Given the description of an element on the screen output the (x, y) to click on. 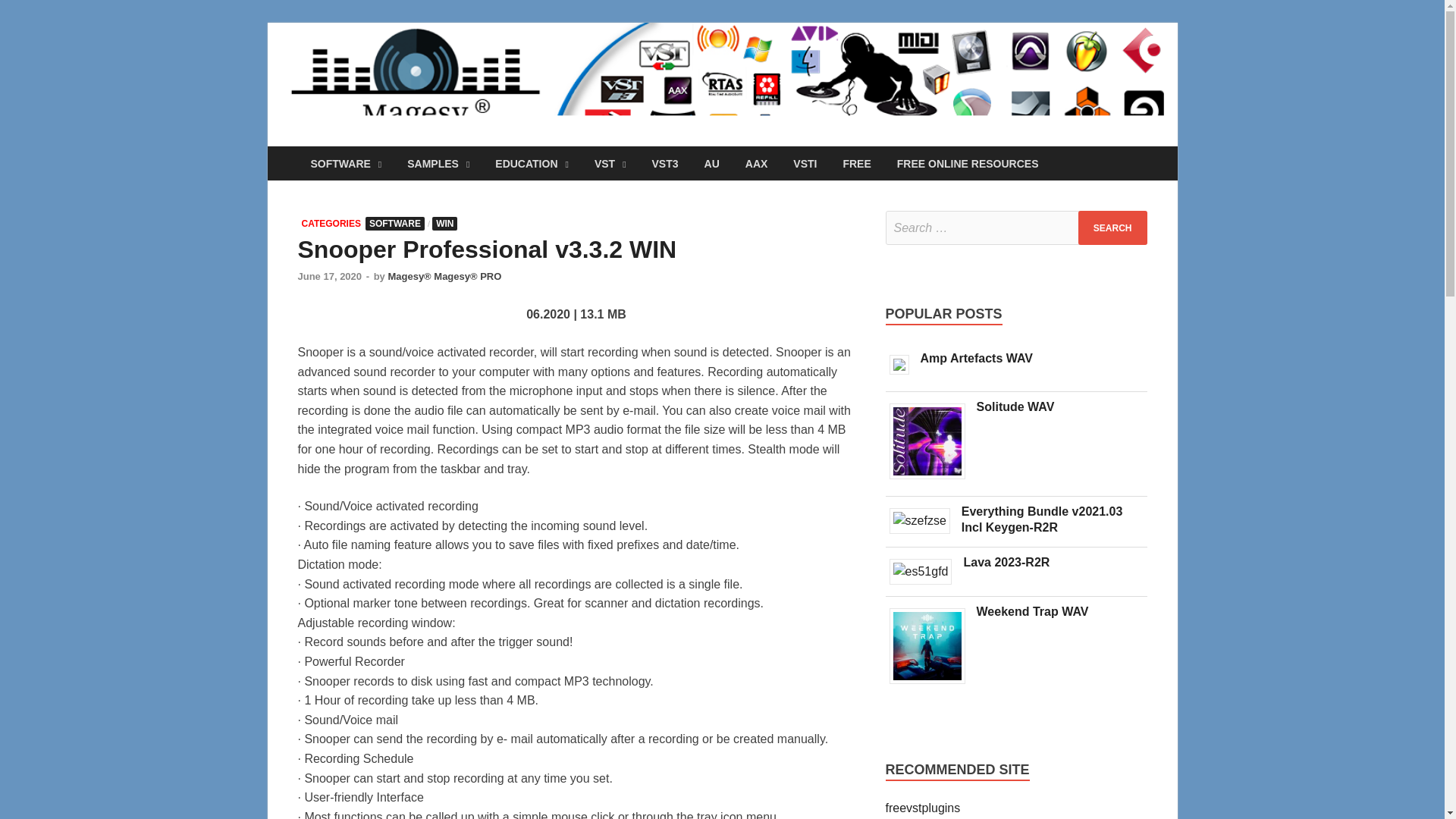
Search (1112, 227)
VST (609, 163)
Weekend Trap WAV (932, 683)
AU (711, 163)
Everything Bundle v2021.03 Incl Keygen-R2R (1041, 519)
FREE ONLINE RESOURCES (967, 163)
Amp Artefacts WAV (904, 373)
SAMPLES (437, 163)
VST3 (665, 163)
AAX (756, 163)
